Given the description of an element on the screen output the (x, y) to click on. 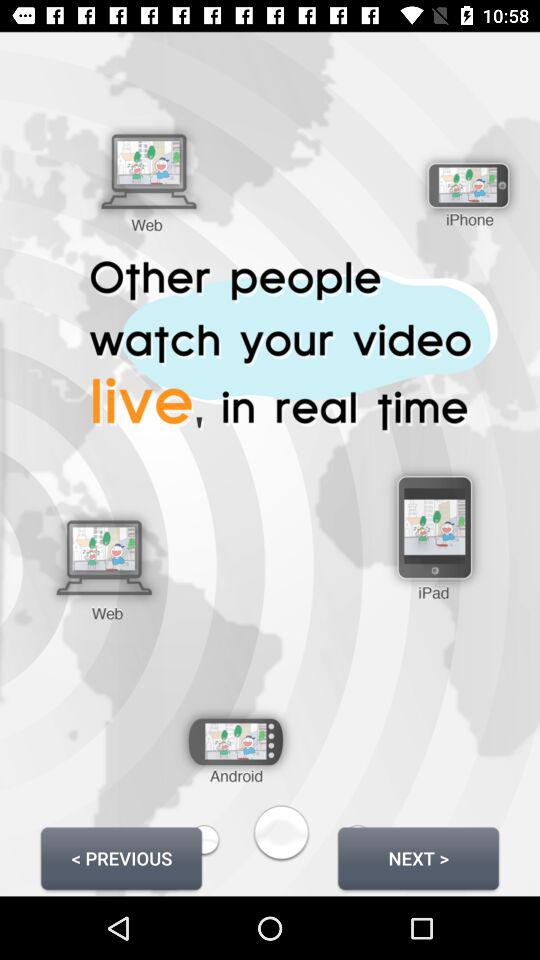
turn off the item next to < previous icon (418, 858)
